Given the description of an element on the screen output the (x, y) to click on. 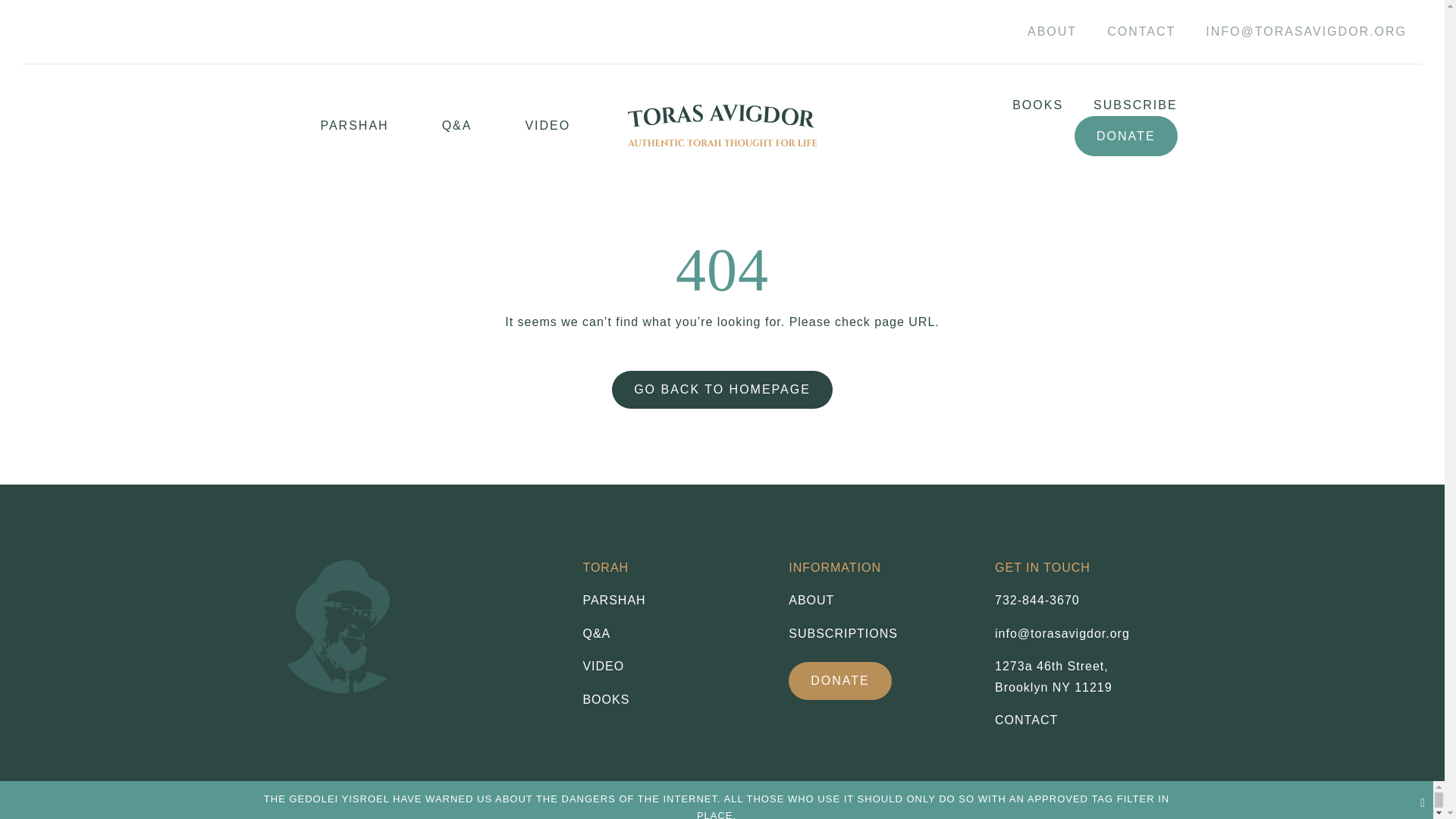
DONATE (840, 680)
ABOUT (880, 599)
BOOKS (1021, 105)
DONATE (1125, 136)
GO BACK TO HOMEPAGE (721, 389)
ABOUT (1051, 31)
VIDEO (673, 666)
BOOKS (673, 699)
SUBSCRIPTIONS (880, 633)
PARSHAH (673, 599)
CONTACT (1141, 31)
732-844-3670 (1053, 676)
VIDEO (1037, 599)
SUBSCRIBE (520, 125)
